Given the description of an element on the screen output the (x, y) to click on. 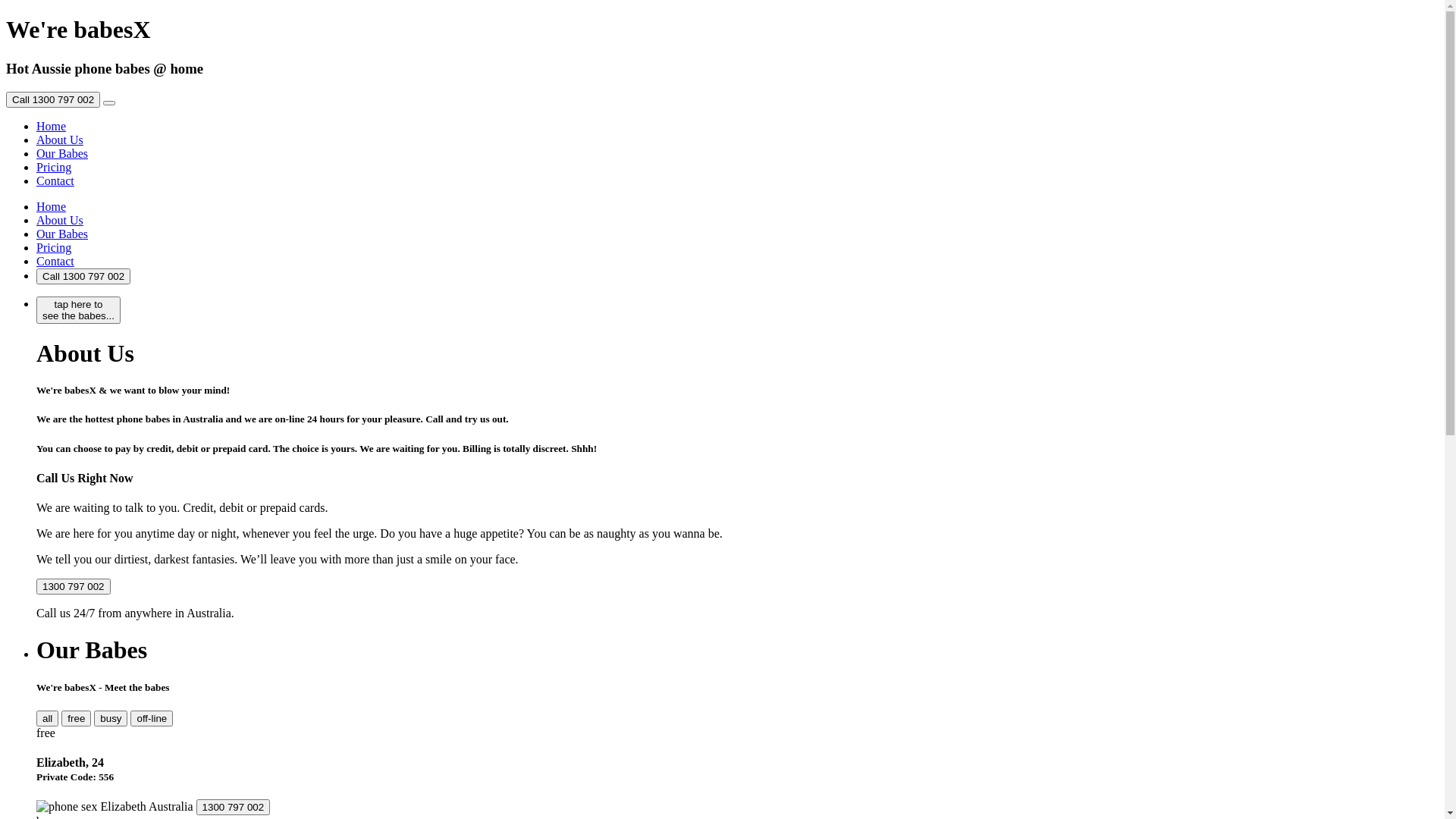
Home Element type: text (50, 125)
free Element type: text (76, 718)
Pricing Element type: text (53, 247)
About Us Element type: text (59, 139)
Call 1300 797 002 Element type: text (53, 99)
Our Babes Element type: text (61, 153)
Call 1300 797 002 Element type: text (83, 276)
About Us Element type: text (59, 219)
Contact Element type: text (55, 180)
1300 797 002 Element type: text (233, 807)
off-line Element type: text (151, 718)
Call 1300 797 002 Element type: text (83, 275)
tap here to
see the babes... Element type: text (78, 303)
busy Element type: text (110, 718)
1300 797 002 Element type: text (73, 585)
Our Babes Element type: text (61, 233)
1300 797 002 Element type: text (73, 586)
1300 797 002 Element type: text (233, 806)
Pricing Element type: text (53, 166)
tap here to
see the babes... Element type: text (78, 309)
Home Element type: text (50, 206)
all Element type: text (47, 718)
Call 1300 797 002 Element type: text (53, 98)
Contact Element type: text (55, 260)
